Given the description of an element on the screen output the (x, y) to click on. 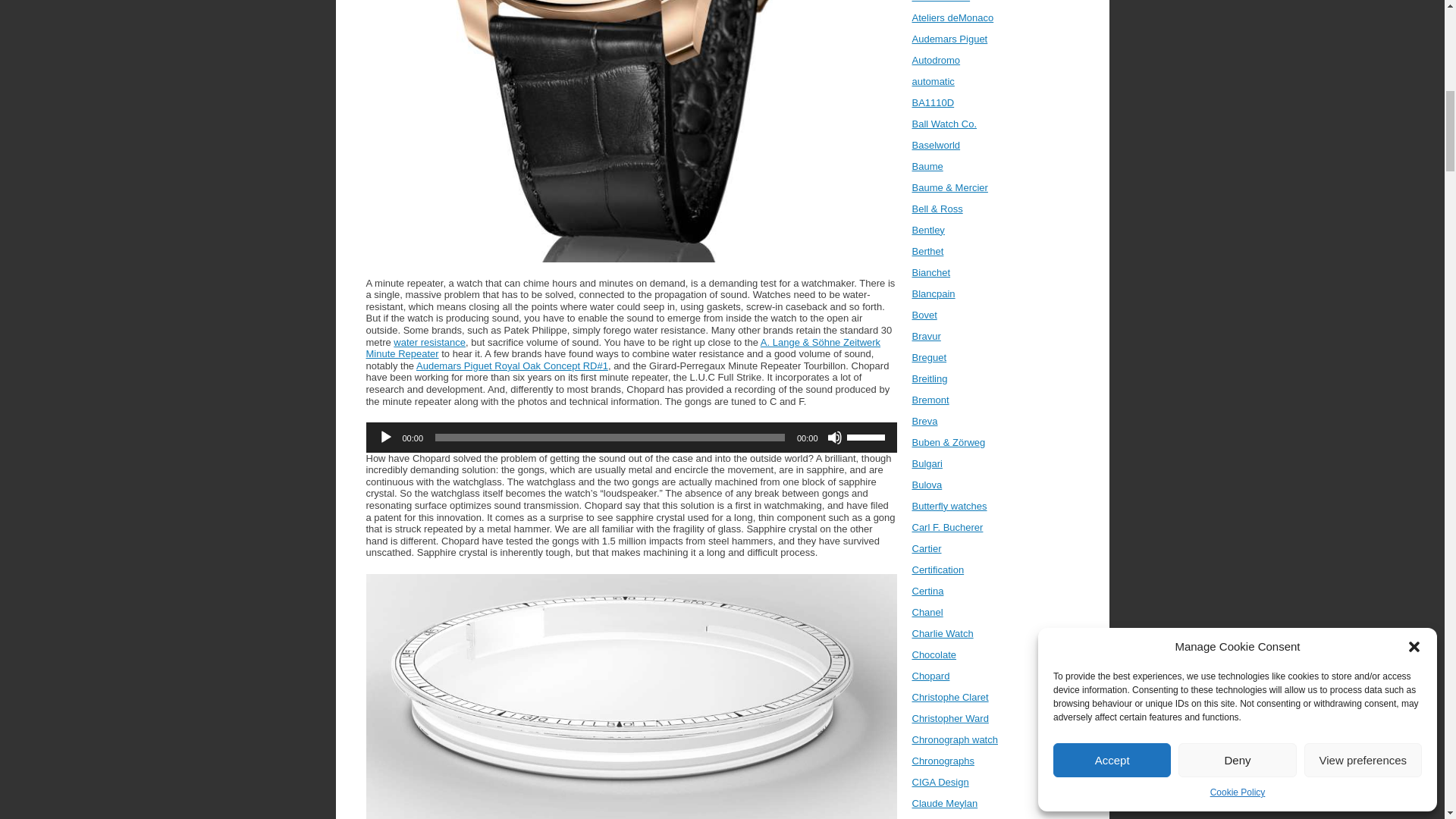
Mute (834, 437)
Play (385, 437)
water resistance (429, 342)
